Given the description of an element on the screen output the (x, y) to click on. 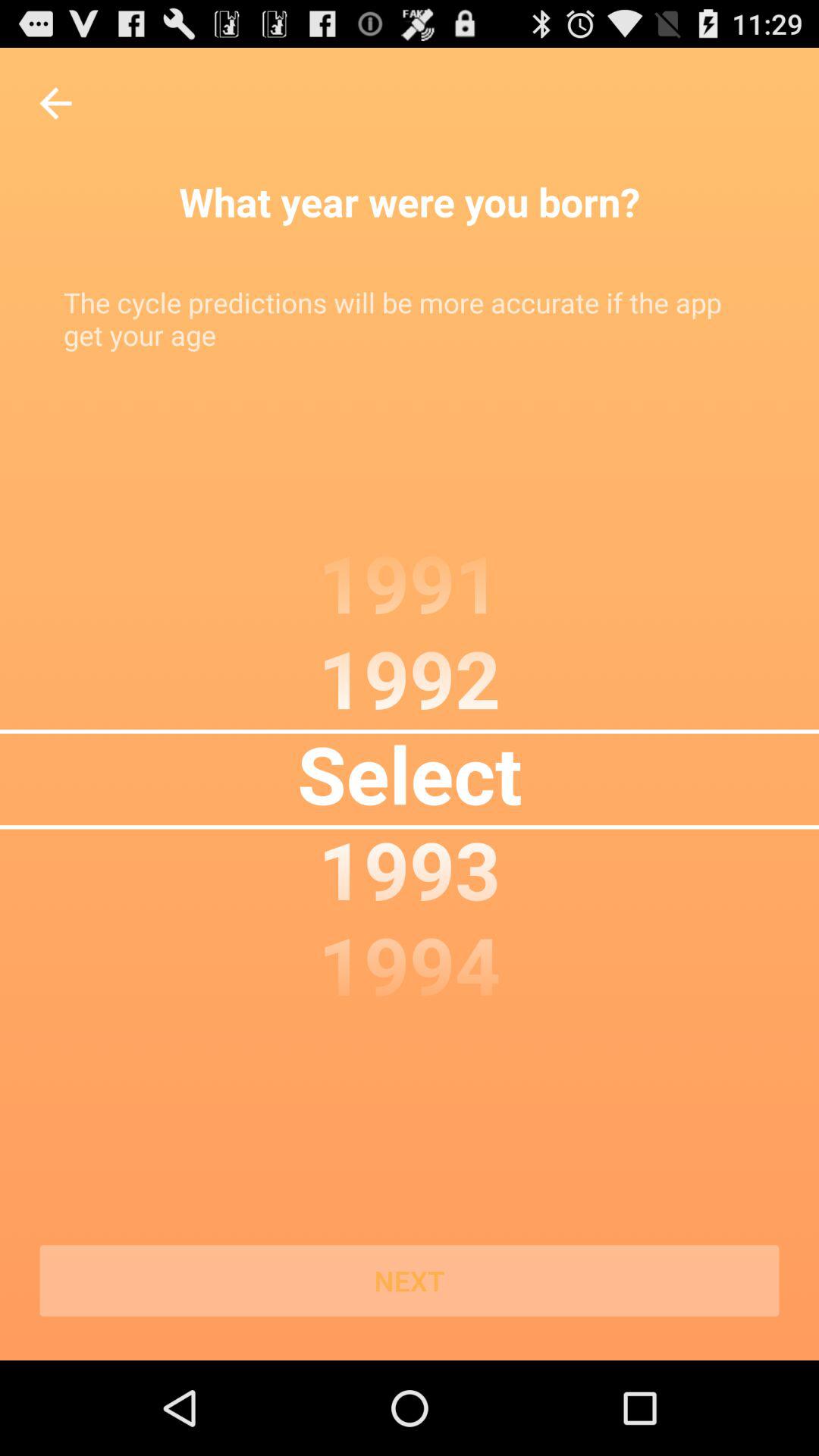
choose the icon at the top left corner (55, 103)
